Given the description of an element on the screen output the (x, y) to click on. 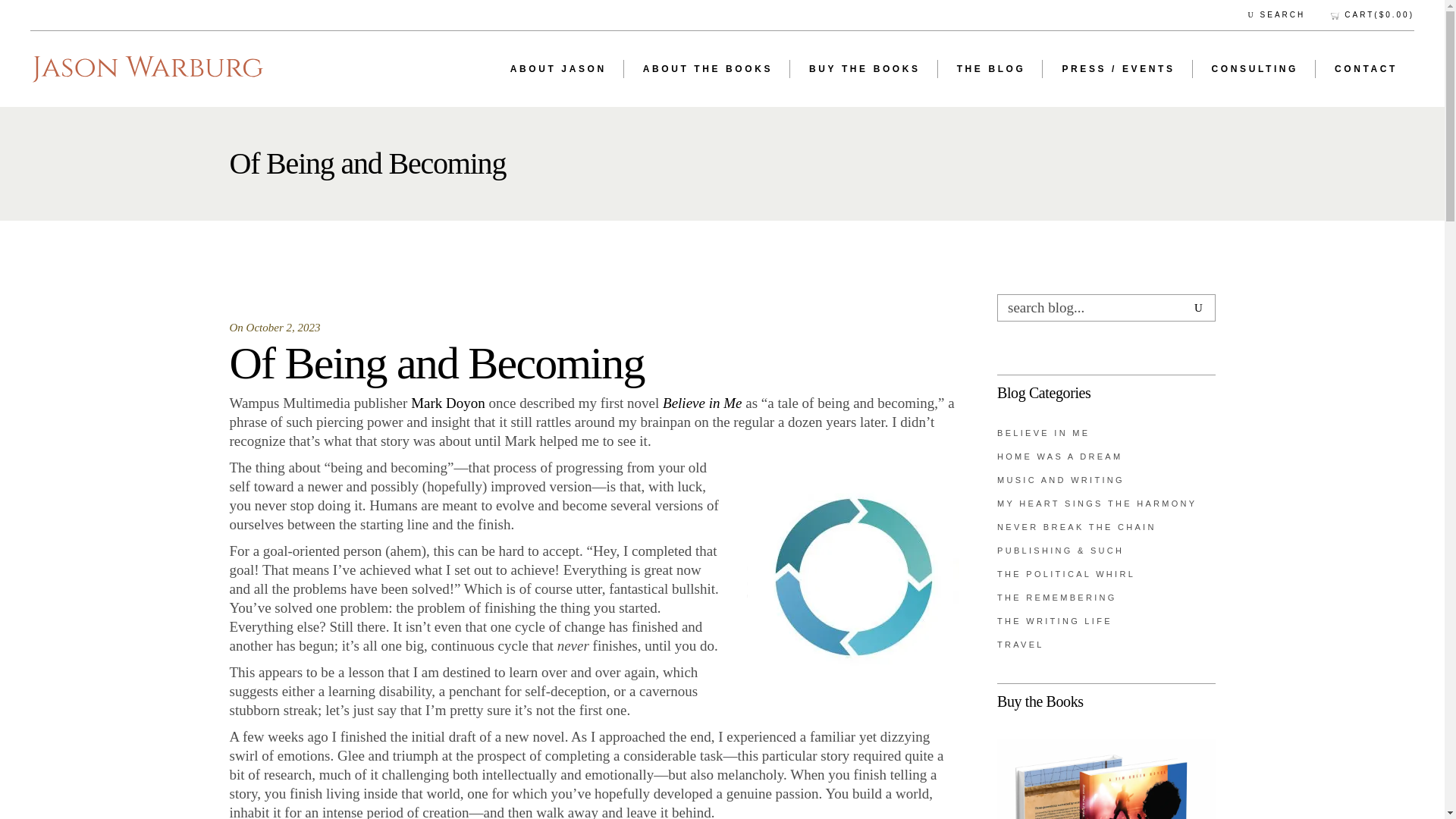
CONTACT (1364, 69)
CONSULTING (1254, 69)
SEARCH (1276, 14)
ABOUT THE BOOKS (707, 69)
THE BLOG (990, 69)
BUY THE BOOKS (863, 69)
ABOUT JASON (558, 69)
